Given the description of an element on the screen output the (x, y) to click on. 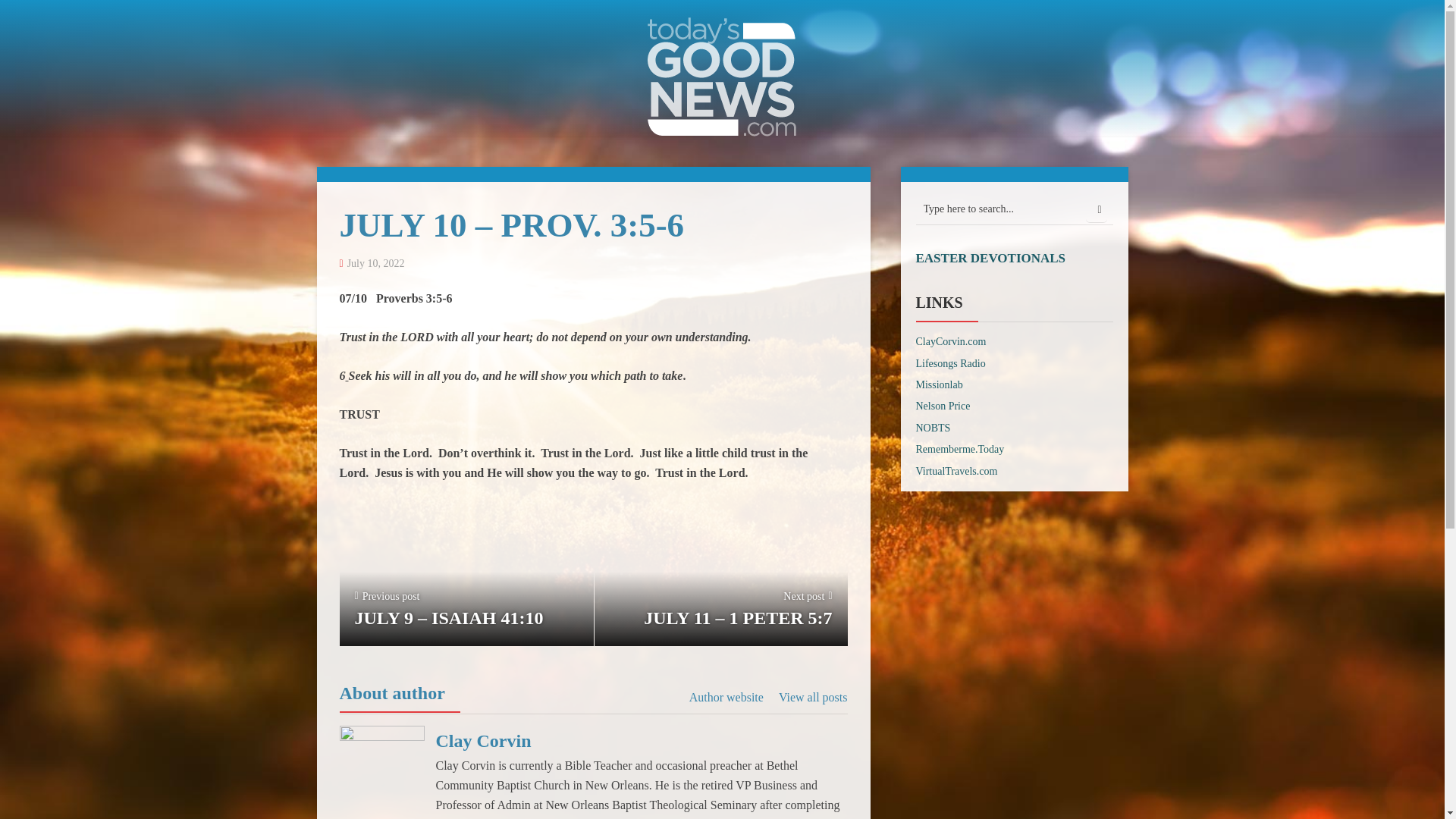
ClayCorvin.com (951, 341)
VirtualTravels.com (956, 471)
Rememberme.Today (959, 449)
Today's Good News (721, 75)
Type here to search... (1014, 209)
EASTER DEVOTIONALS (990, 257)
Missionlab (938, 384)
Author website (725, 697)
Type here to search... (1014, 209)
Lifesongs Radio (950, 363)
